Given the description of an element on the screen output the (x, y) to click on. 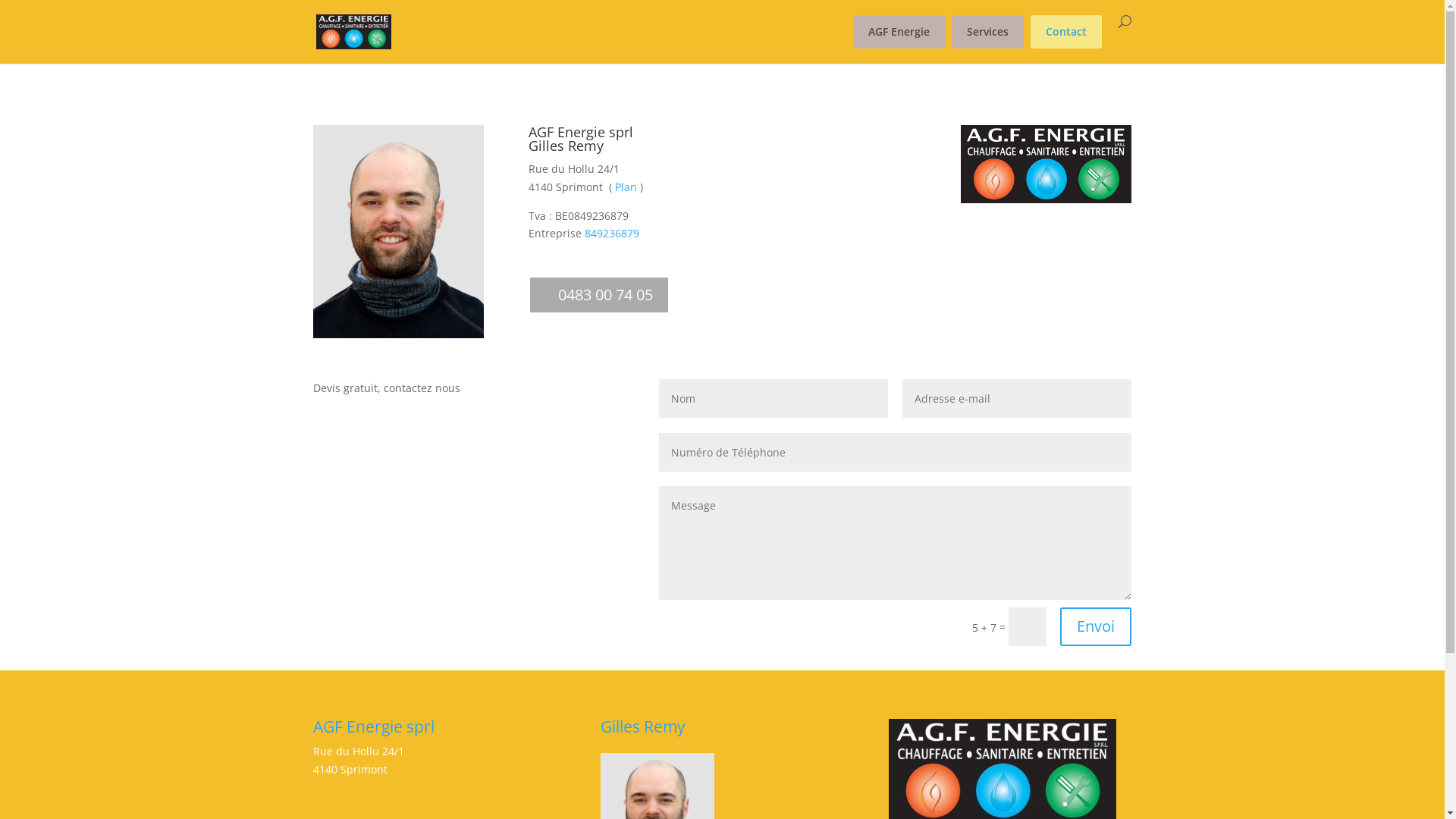
Services Element type: text (986, 31)
Envoi Element type: text (1095, 626)
Plan Element type: text (626, 186)
Contact Element type: text (1065, 31)
849236879 Element type: text (611, 232)
AGF Energie Element type: text (898, 31)
